Given the description of an element on the screen output the (x, y) to click on. 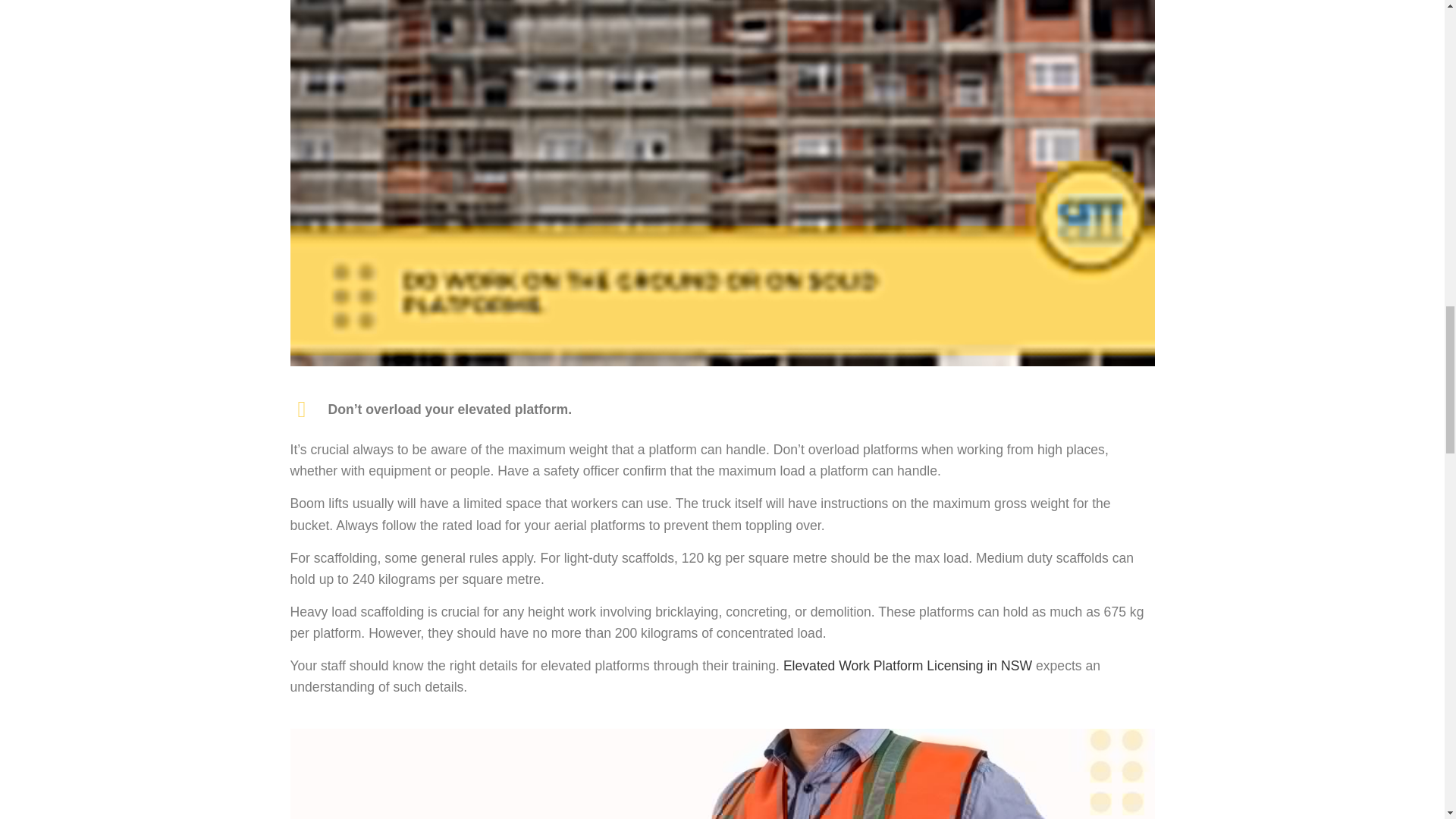
Working at height - CS Transport Training (721, 773)
